Given the description of an element on the screen output the (x, y) to click on. 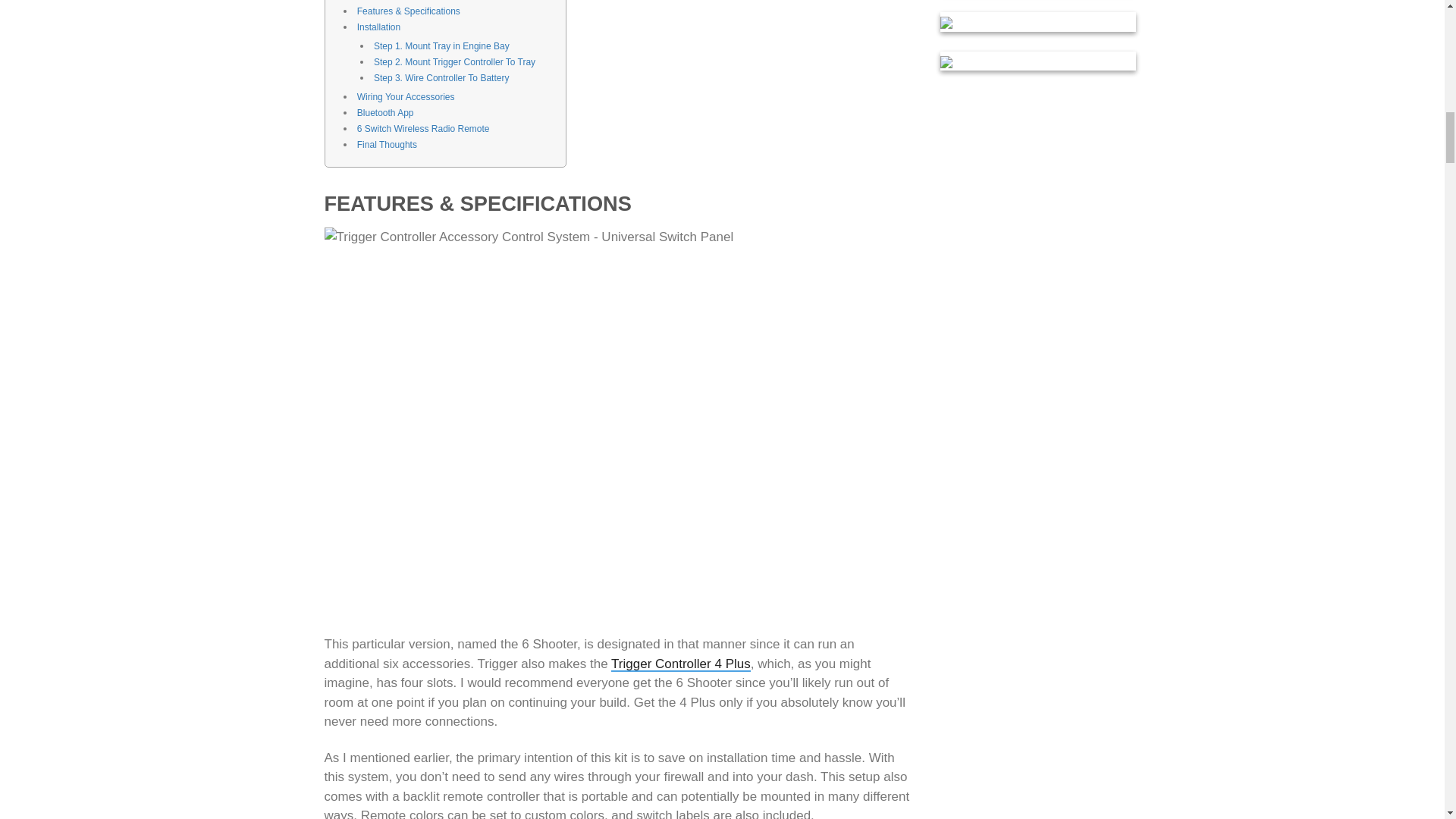
Step 2. Mount Trigger Controller To Tray (454, 61)
Final Thoughts (386, 144)
Step 1. Mount Tray in Engine Bay (441, 46)
6 Switch Wireless Radio Remote (422, 128)
Step 3. Wire Controller To Battery (441, 78)
Bluetooth App (384, 112)
Installation (378, 27)
Wiring Your Accessories (405, 96)
